Given the description of an element on the screen output the (x, y) to click on. 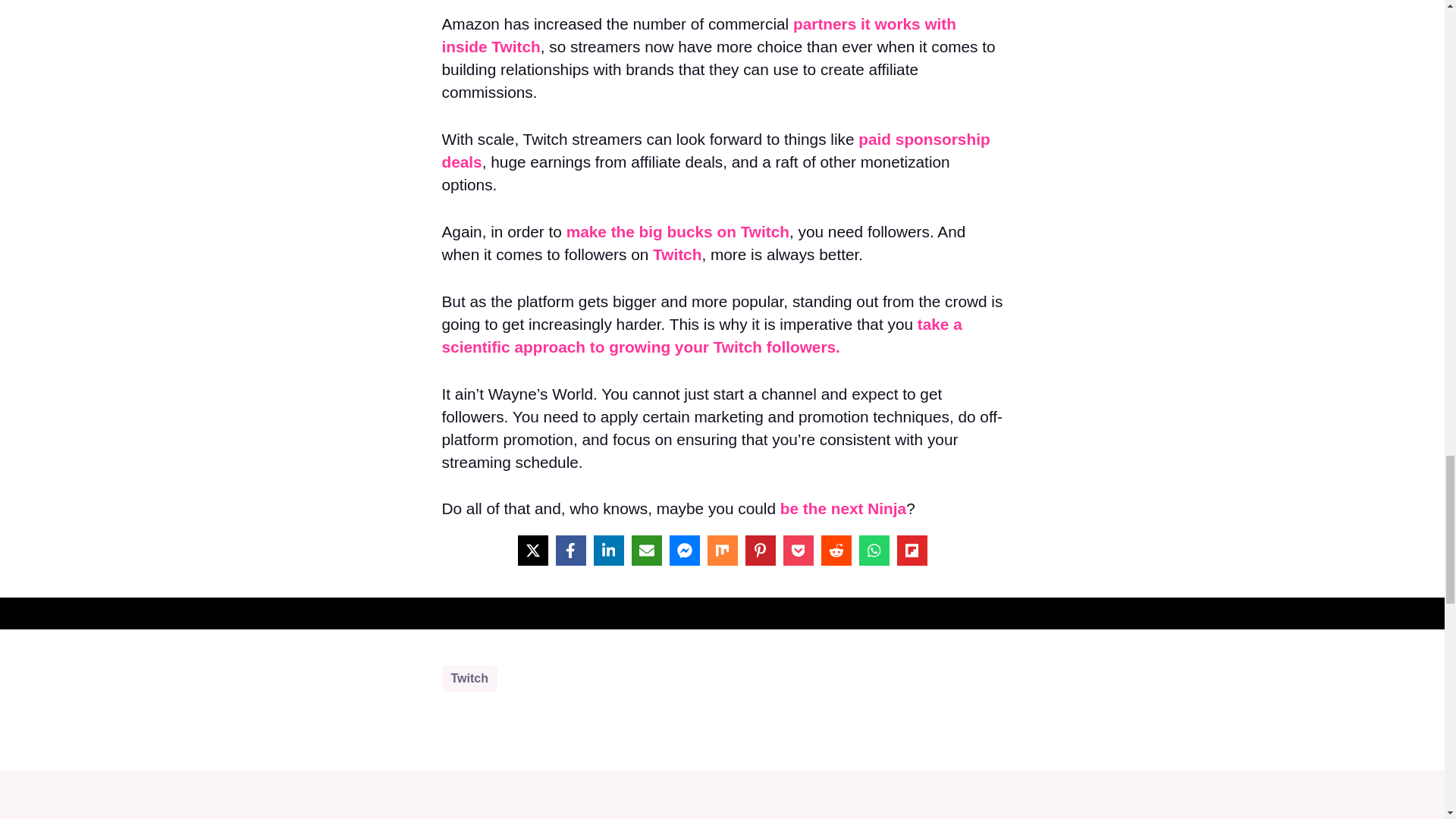
paid sponsorship deals (715, 150)
partners it works with inside Twitch (698, 35)
